Given the description of an element on the screen output the (x, y) to click on. 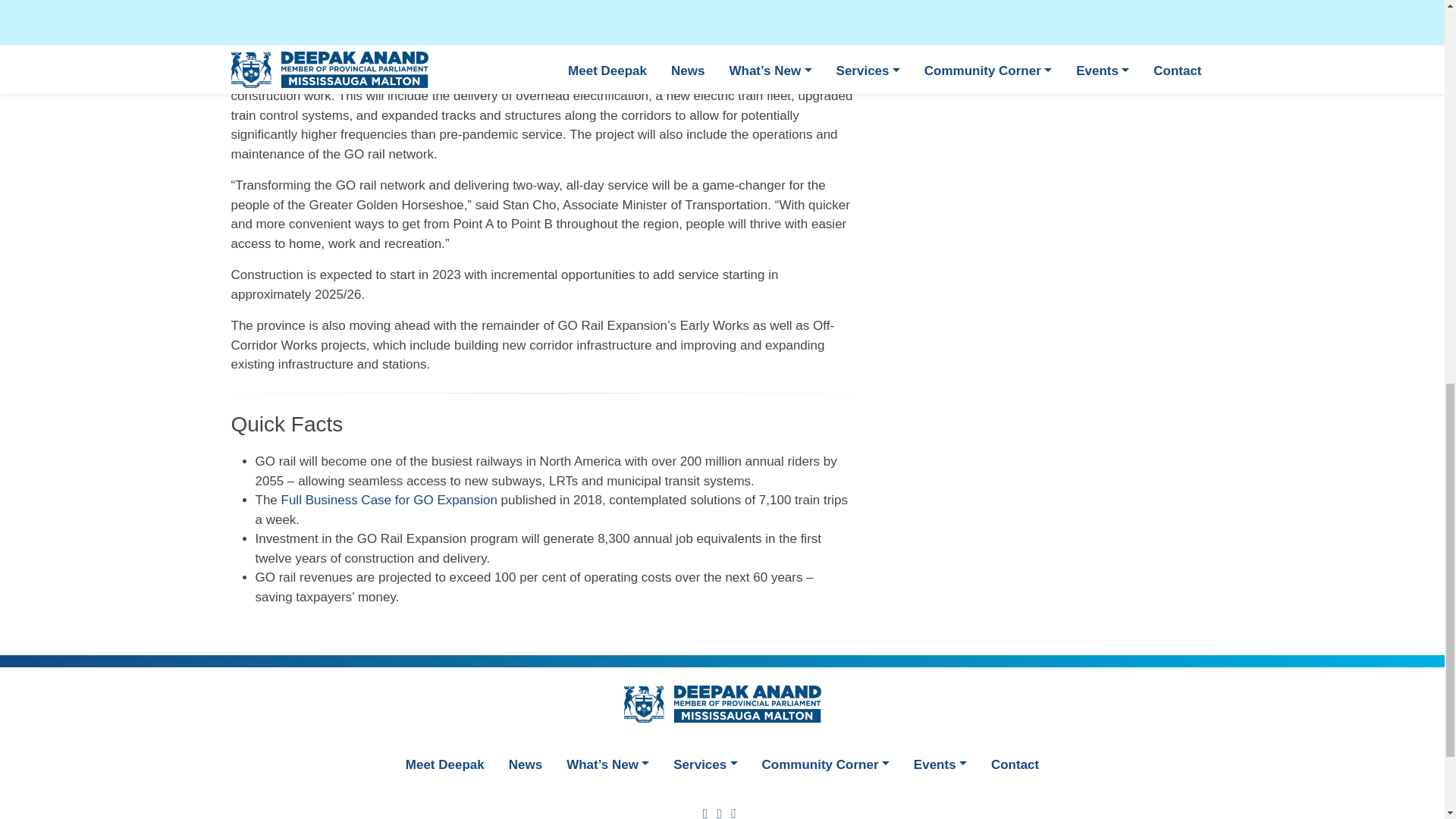
News (525, 763)
Full Business Case for GO Expansion (389, 499)
Meet Deepak (444, 763)
